Given the description of an element on the screen output the (x, y) to click on. 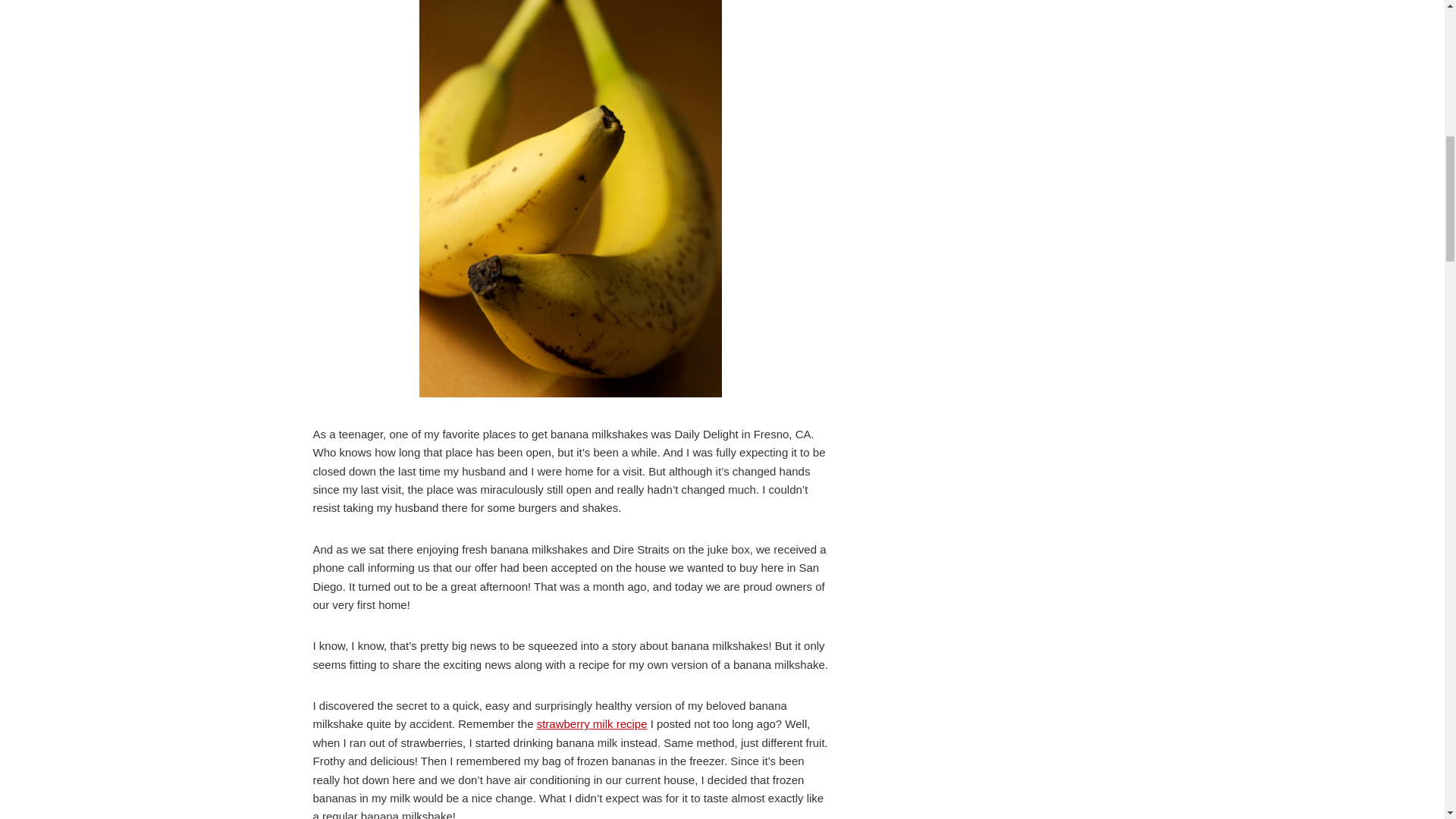
Strawberry Milk Recipe (592, 723)
strawberry milk recipe (592, 723)
